Given the description of an element on the screen output the (x, y) to click on. 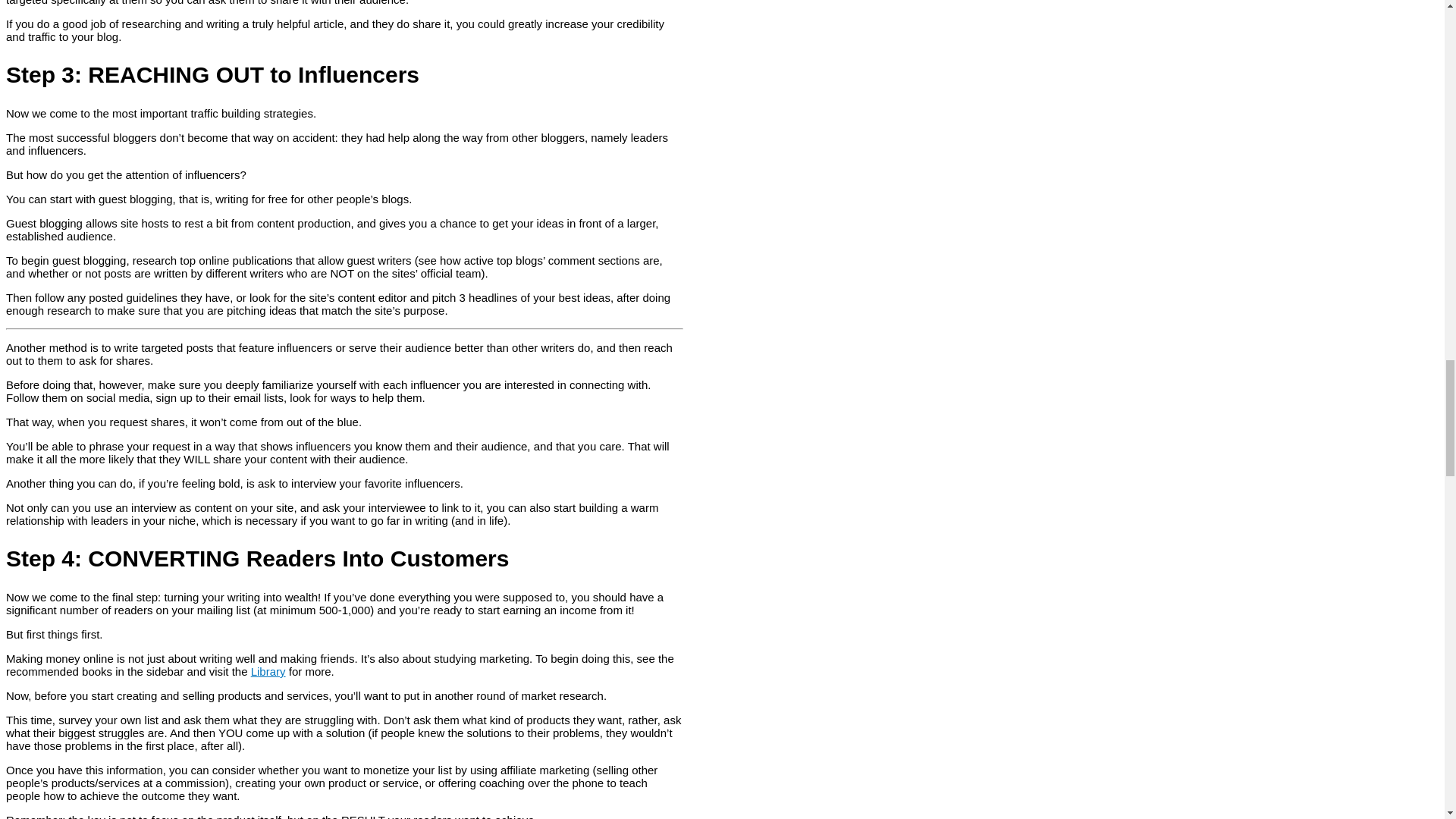
Library (267, 671)
